Given the description of an element on the screen output the (x, y) to click on. 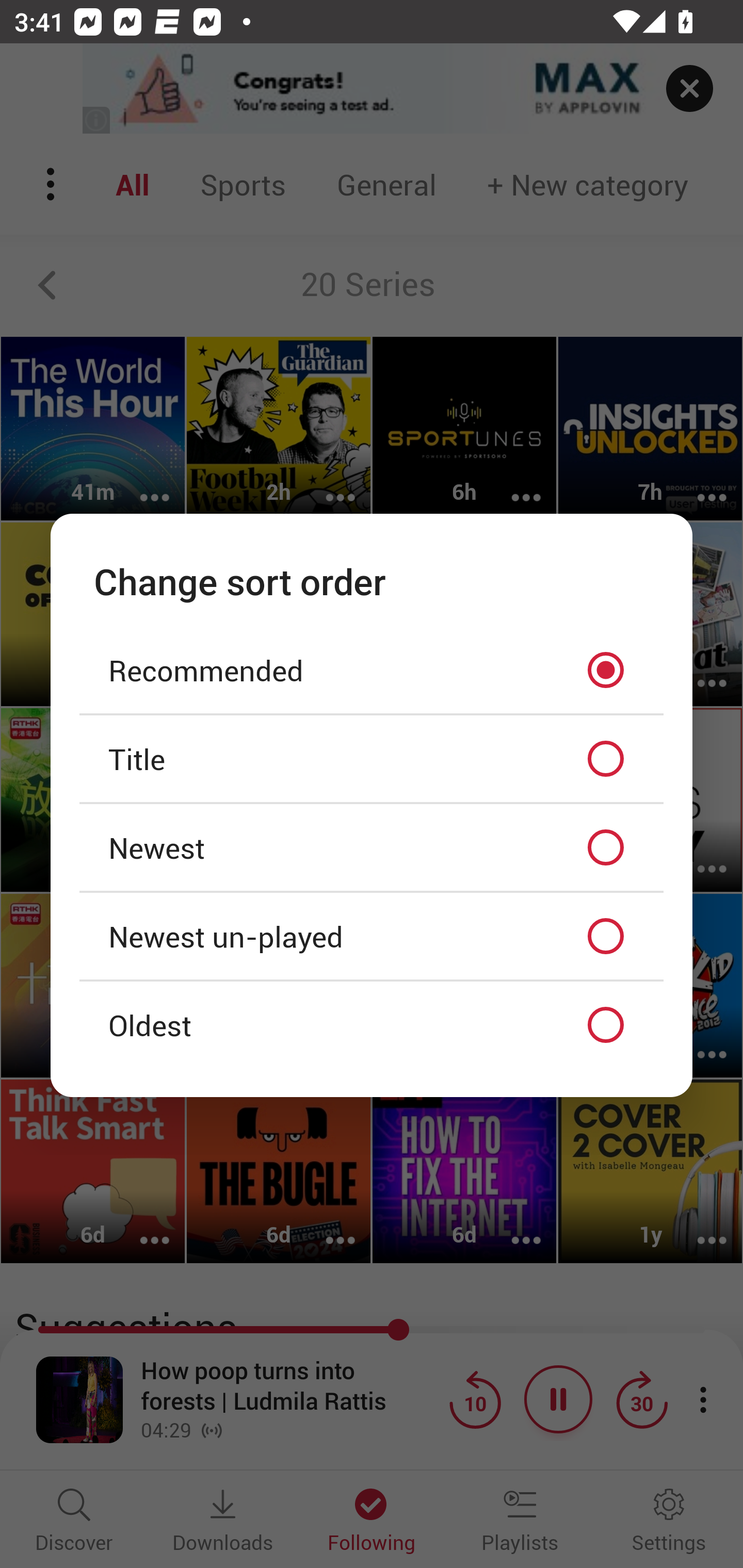
Recommended (371, 670)
Title (371, 758)
Newest (371, 847)
Newest un-played (371, 936)
Oldest (371, 1024)
